Given the description of an element on the screen output the (x, y) to click on. 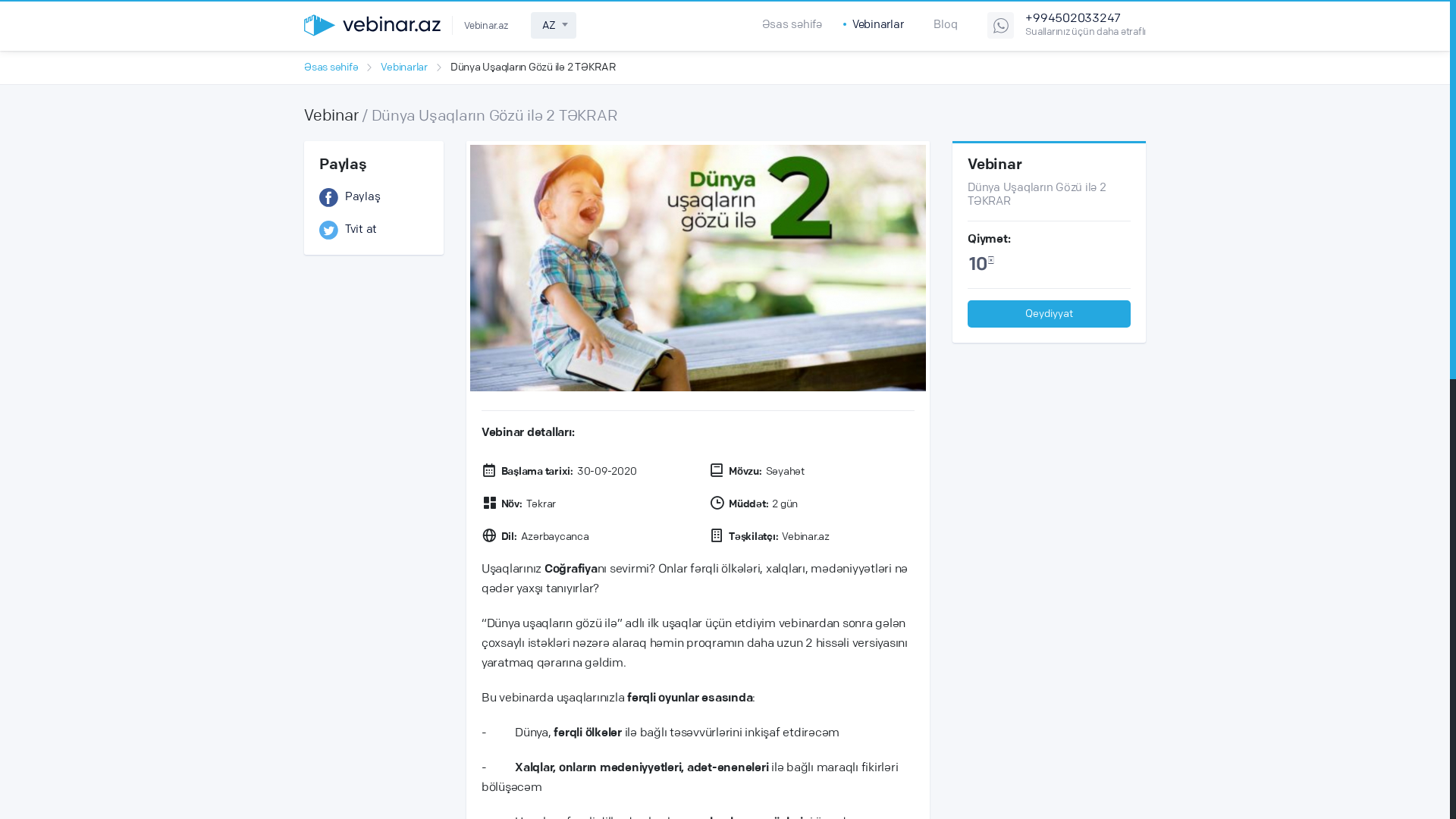
Tvit at Element type: text (373, 229)
Qeydiyyat Element type: text (1048, 313)
Vebinarlar Element type: text (403, 68)
Vebinarlar Element type: text (877, 24)
Bloq Element type: text (945, 24)
+994502033247 Element type: text (1085, 19)
